Given the description of an element on the screen output the (x, y) to click on. 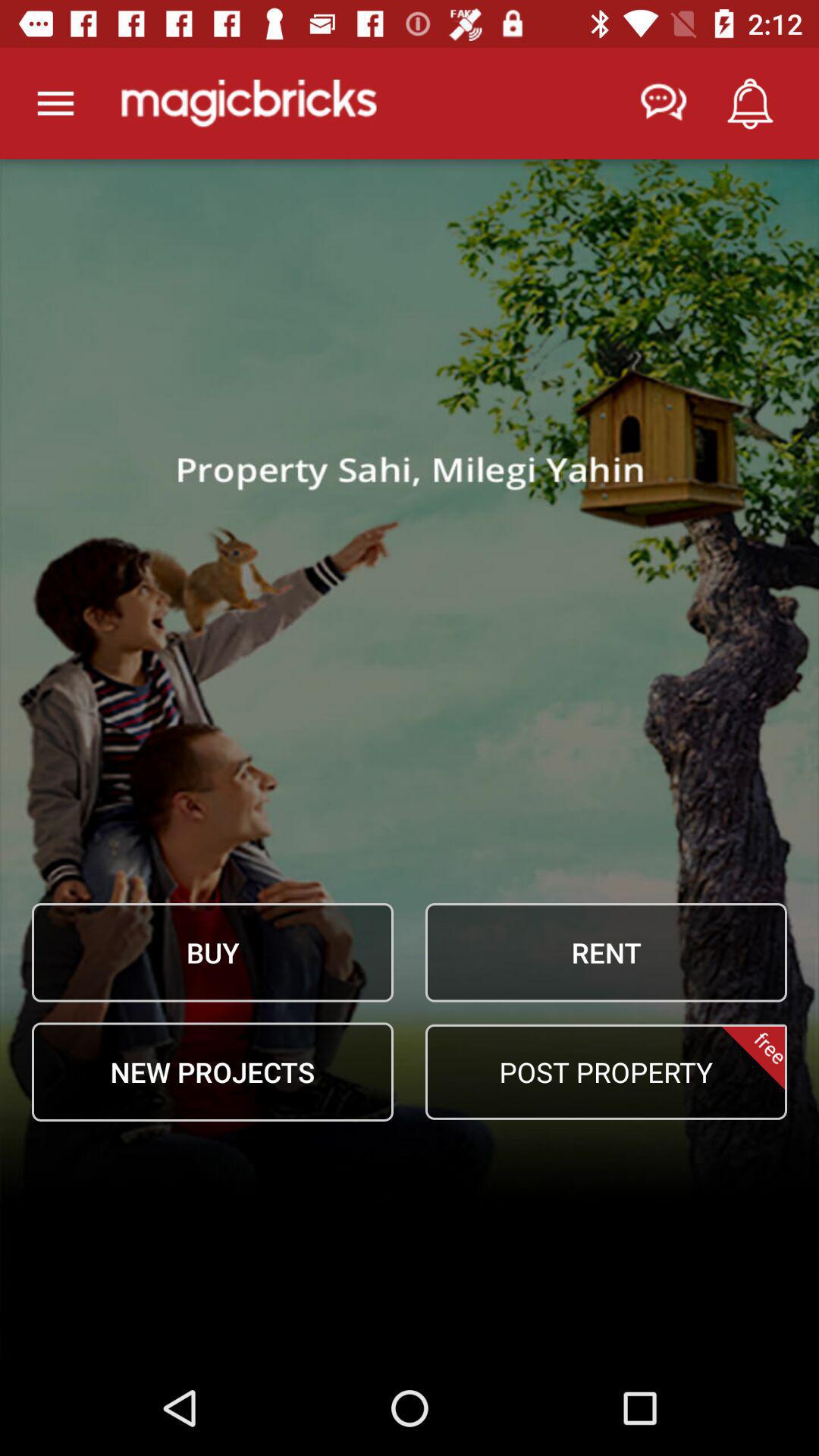
click the icon above free item (606, 952)
